Given the description of an element on the screen output the (x, y) to click on. 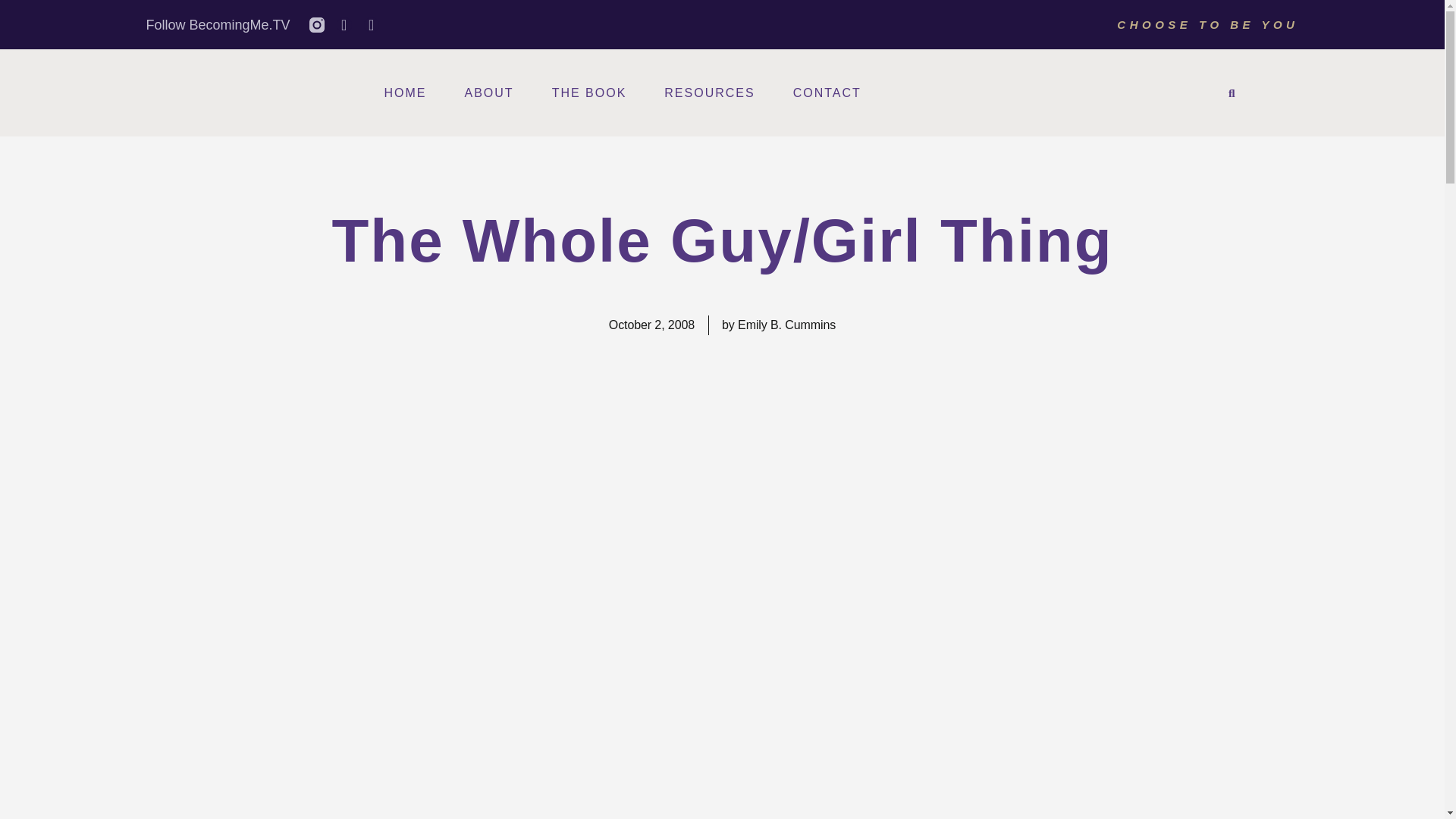
THE BOOK (589, 93)
ABOUT (488, 93)
CONTACT (827, 93)
HOME (405, 93)
RESOURCES (708, 93)
